Given the description of an element on the screen output the (x, y) to click on. 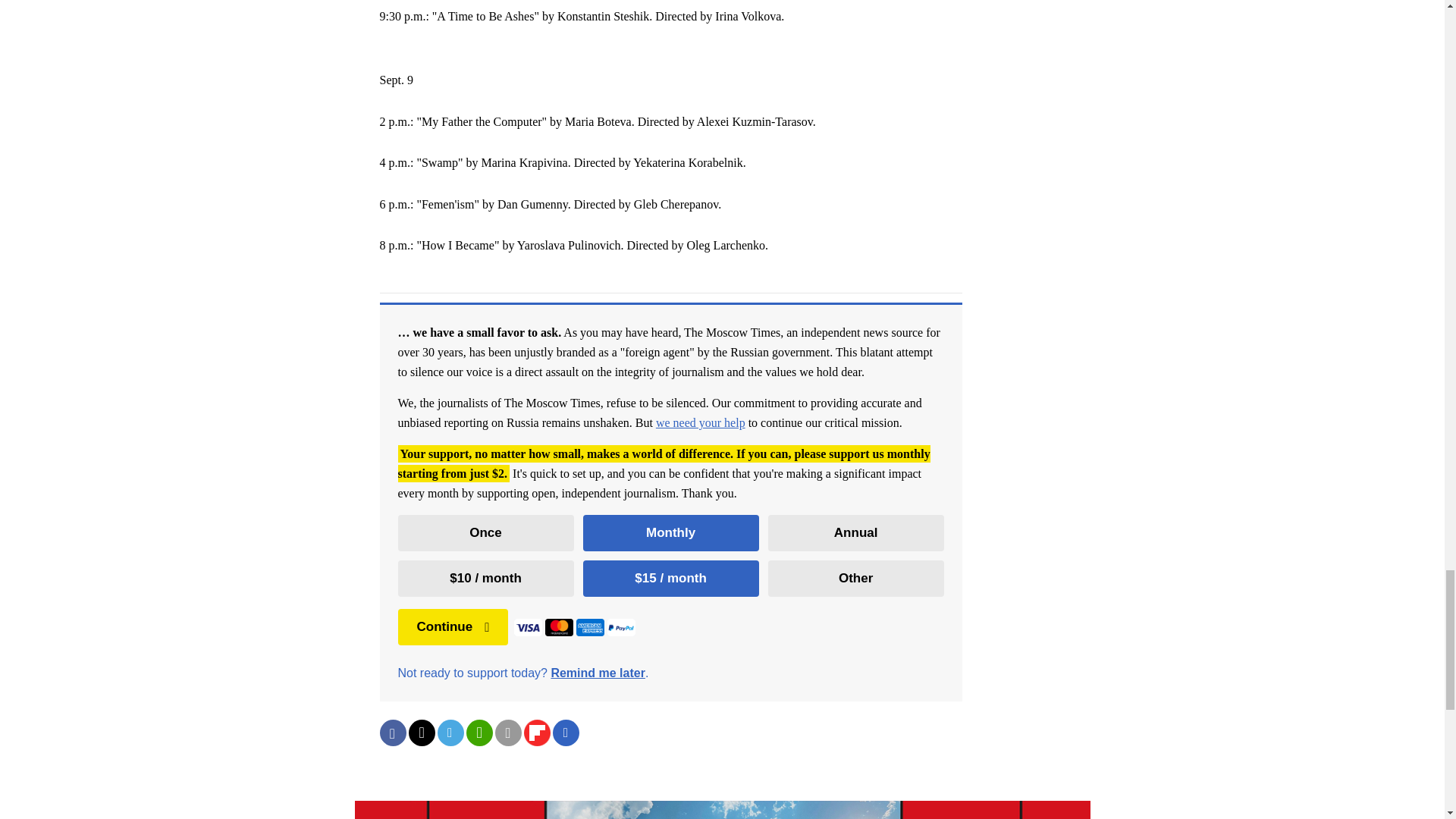
we need your help (700, 422)
Share on Twitter (420, 732)
Share on Flipboard (536, 732)
Share on Telegram (449, 732)
Share on Facebook (392, 732)
